Given the description of an element on the screen output the (x, y) to click on. 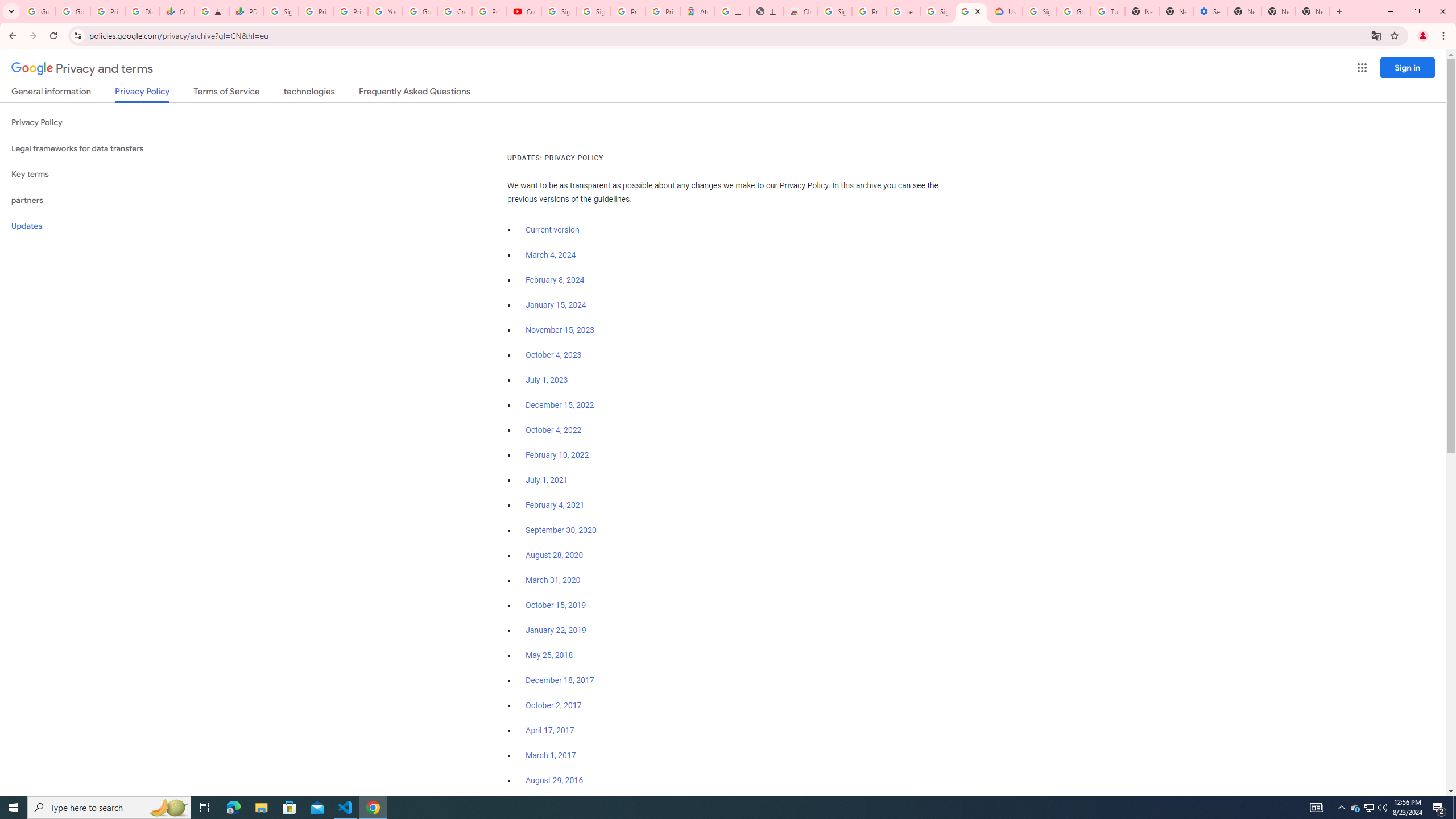
Legal frameworks for data transfers (86, 148)
October 4, 2022 (553, 430)
PDD Holdings Inc - ADR (PDD) Price & News - Google Finance (246, 11)
October 2, 2017 (553, 705)
Privacy and terms (81, 68)
January 22, 2019 (555, 629)
February 8, 2024 (555, 280)
General information (51, 93)
Atour Hotel - Google hotels (697, 11)
March 1, 2017 (550, 755)
Settings - Addresses and more (1209, 11)
October 4, 2023 (553, 355)
